Given the description of an element on the screen output the (x, y) to click on. 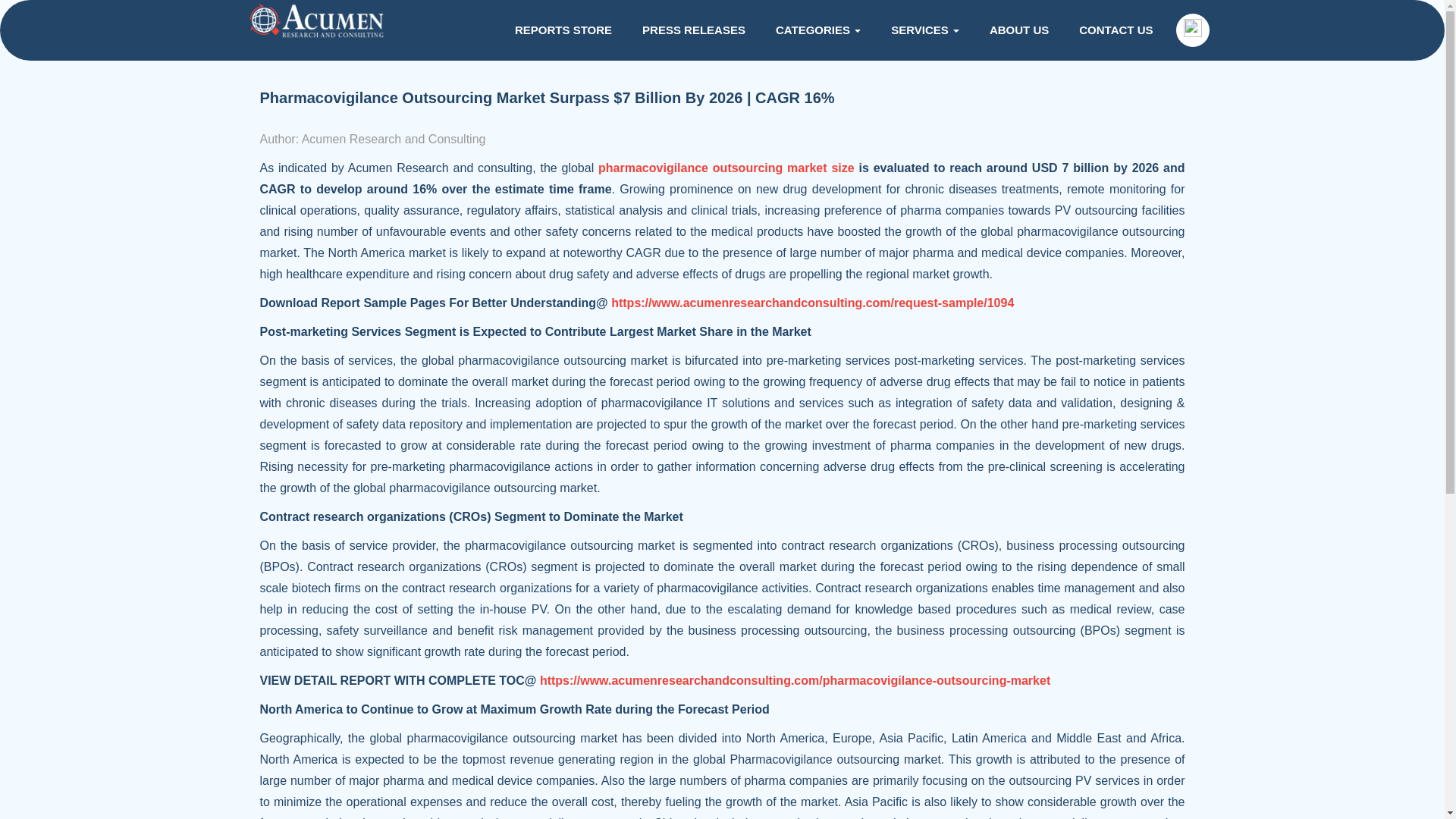
ABOUT US (1019, 30)
pharmacovigilance outsourcing market size (726, 167)
REPORTS STORE (563, 30)
CONTACT US (1115, 30)
CATEGORIES (817, 30)
SERVICES (924, 30)
PRESS RELEASES (693, 30)
